Given the description of an element on the screen output the (x, y) to click on. 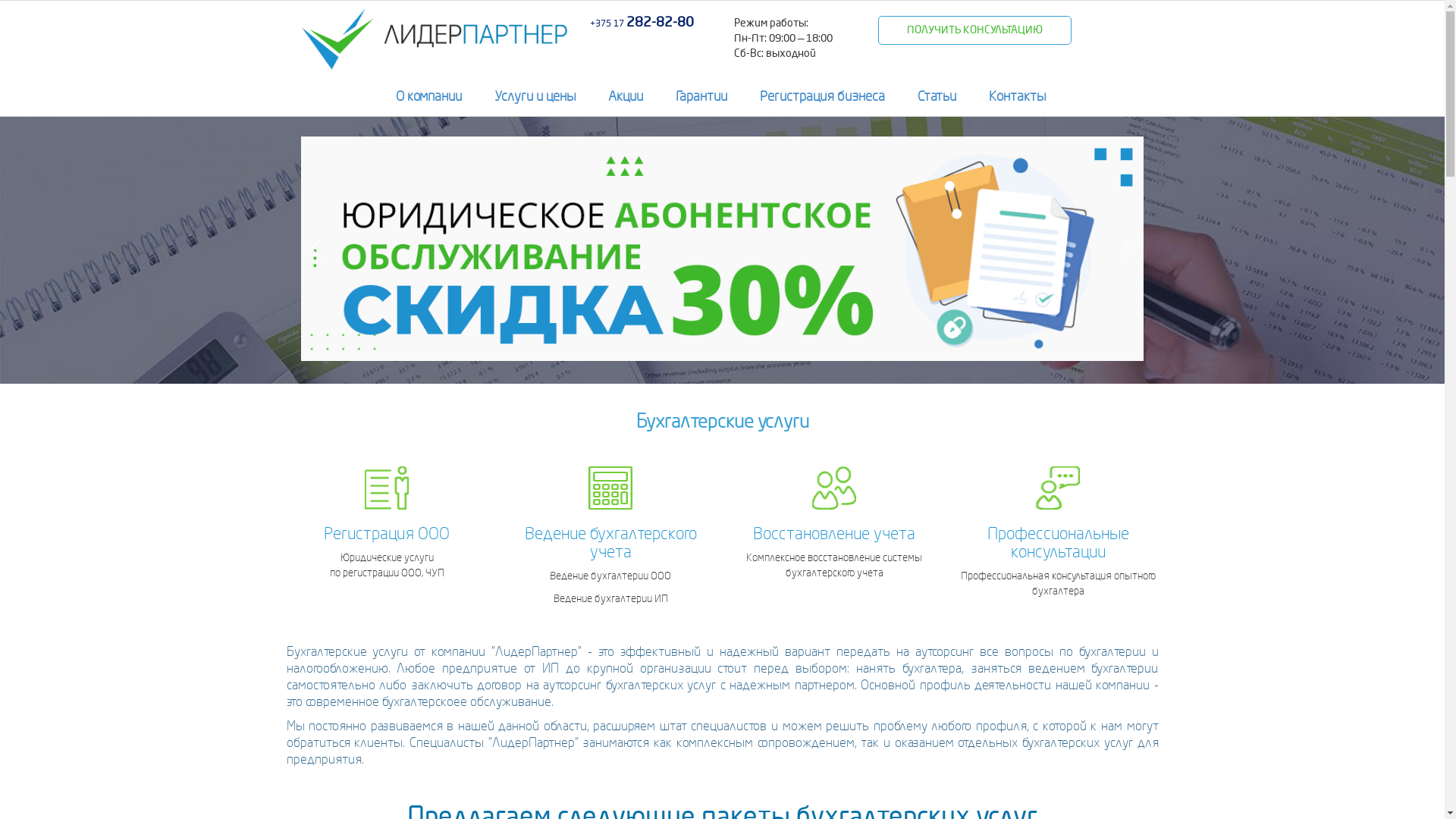
+375 17 282-82-80 Element type: text (641, 22)
